Given the description of an element on the screen output the (x, y) to click on. 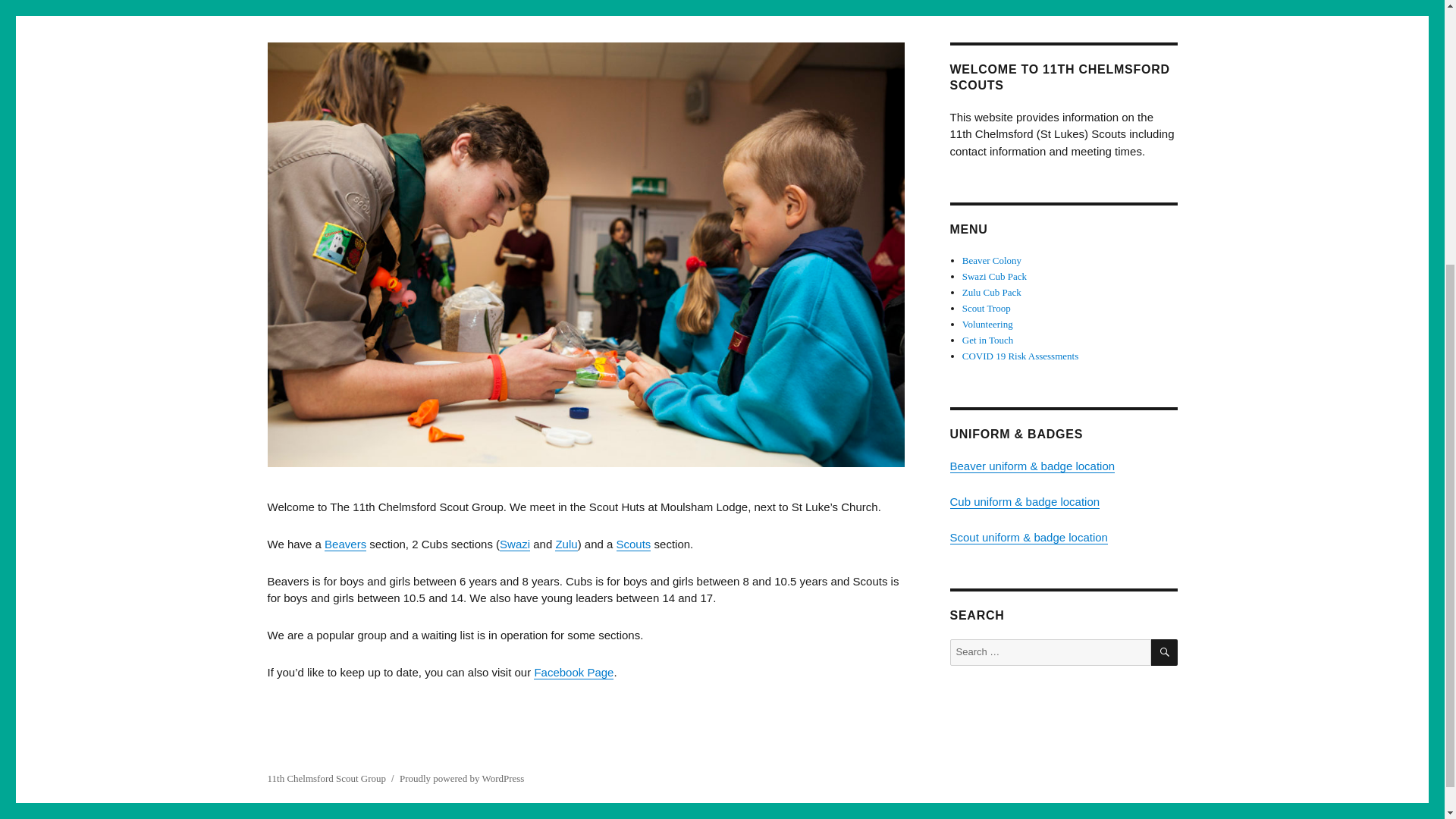
11th Chelmsford Scout Group (325, 778)
Zulu Cub Pack (992, 292)
Scouts (632, 543)
Get in Touch (987, 339)
Facebook Page (573, 671)
Beavers (345, 543)
Scout Troop (986, 307)
Zulu (565, 543)
Proudly powered by WordPress (461, 778)
Swazi (514, 543)
Swazi Cub Pack (994, 276)
SEARCH (1164, 652)
Volunteering (987, 324)
COVID 19 Risk Assessments (1020, 355)
Beaver Colony (992, 260)
